Given the description of an element on the screen output the (x, y) to click on. 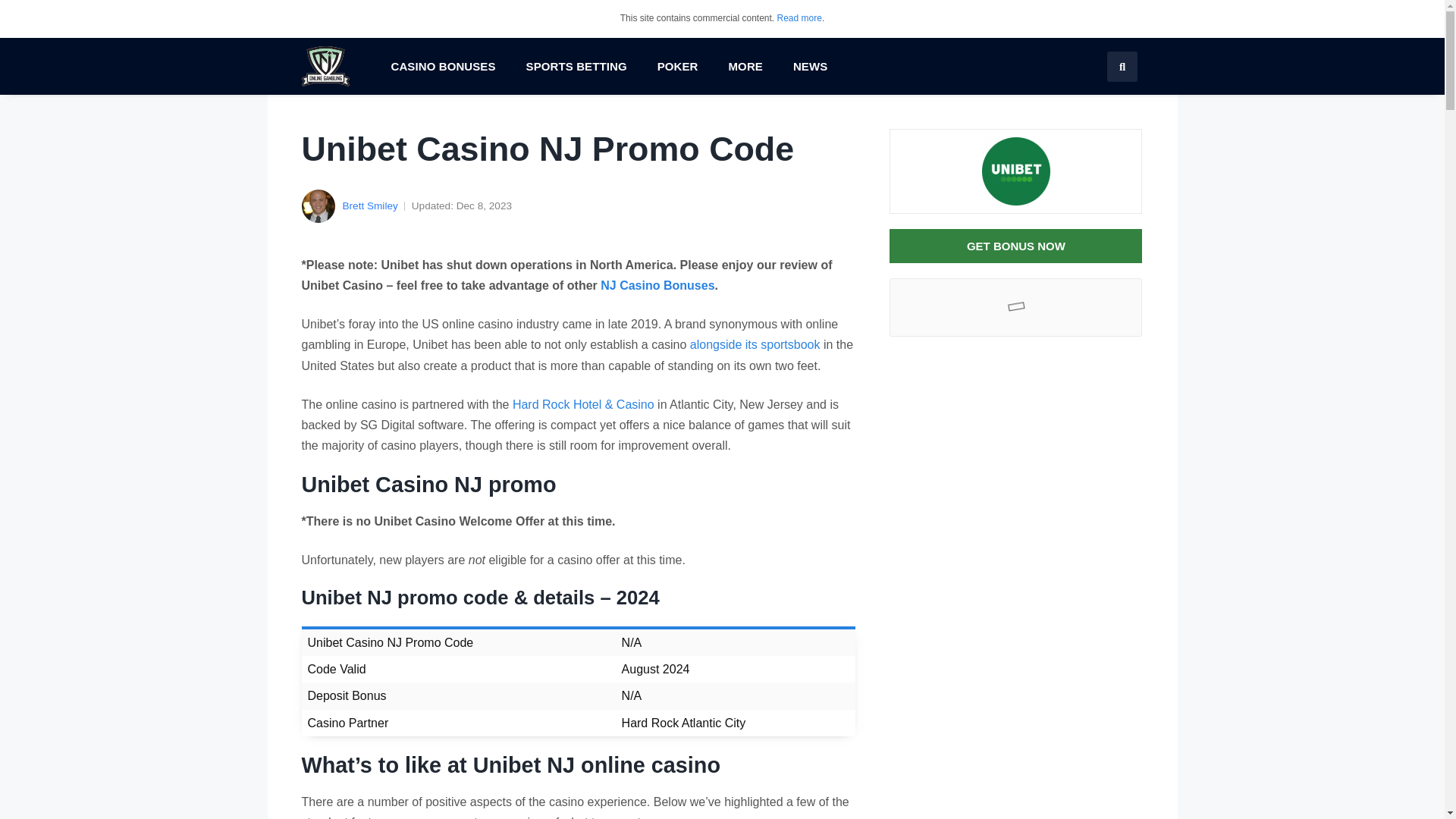
Casino Bonuses (443, 66)
NJ Online Poker (677, 66)
POKER (677, 66)
CASINO BONUSES (443, 66)
MORE (745, 66)
SPORTS BETTING (576, 66)
